Given the description of an element on the screen output the (x, y) to click on. 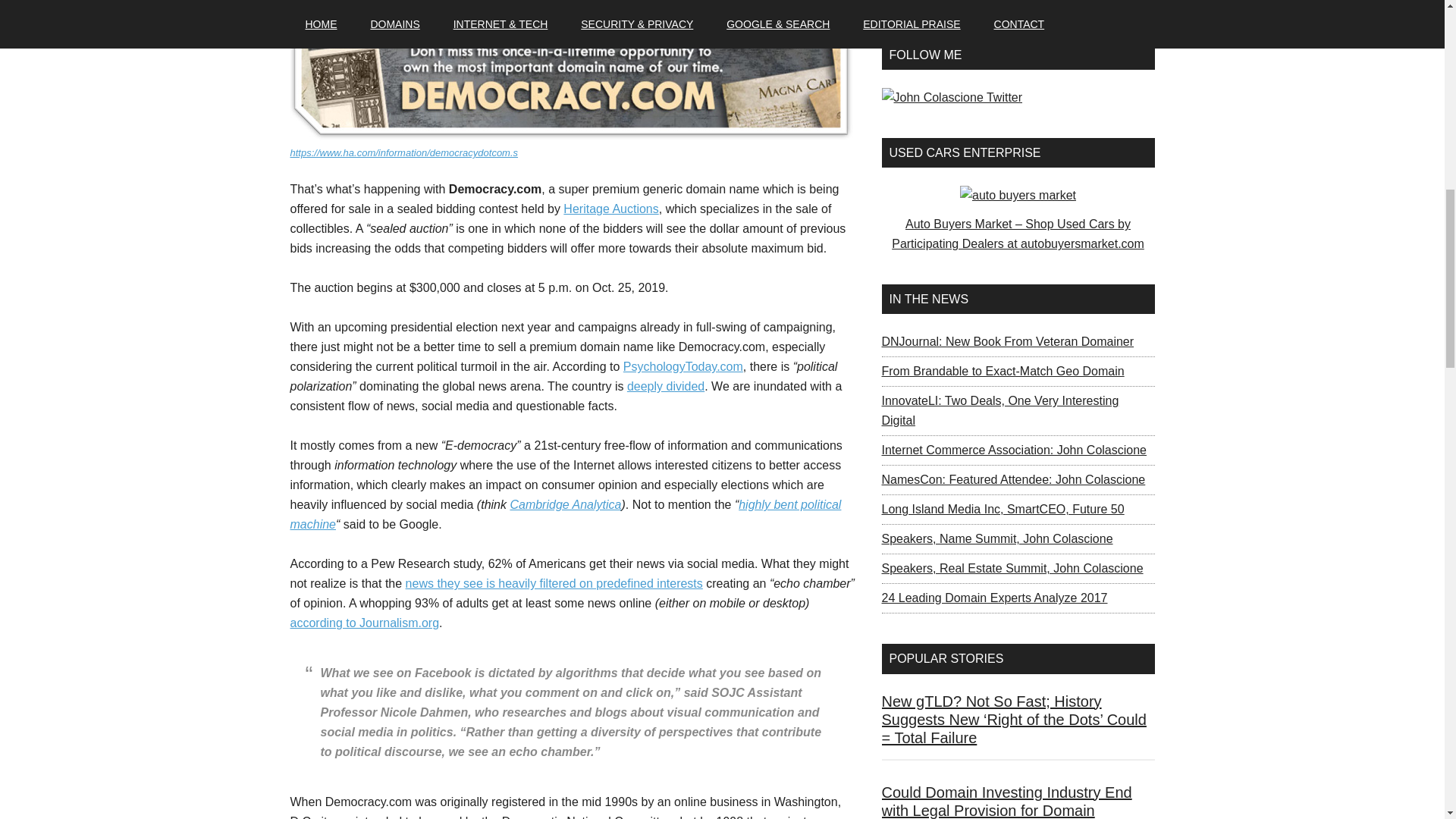
PsychologyToday.com (682, 366)
news they see is heavily filtered on predefined interests (554, 583)
Heritage Auctions (610, 208)
Cambridge Analytica (565, 504)
according to Journalism.org (364, 622)
highly bent political machine (565, 513)
deeply divided (665, 386)
Fellow Me (951, 97)
